Given the description of an element on the screen output the (x, y) to click on. 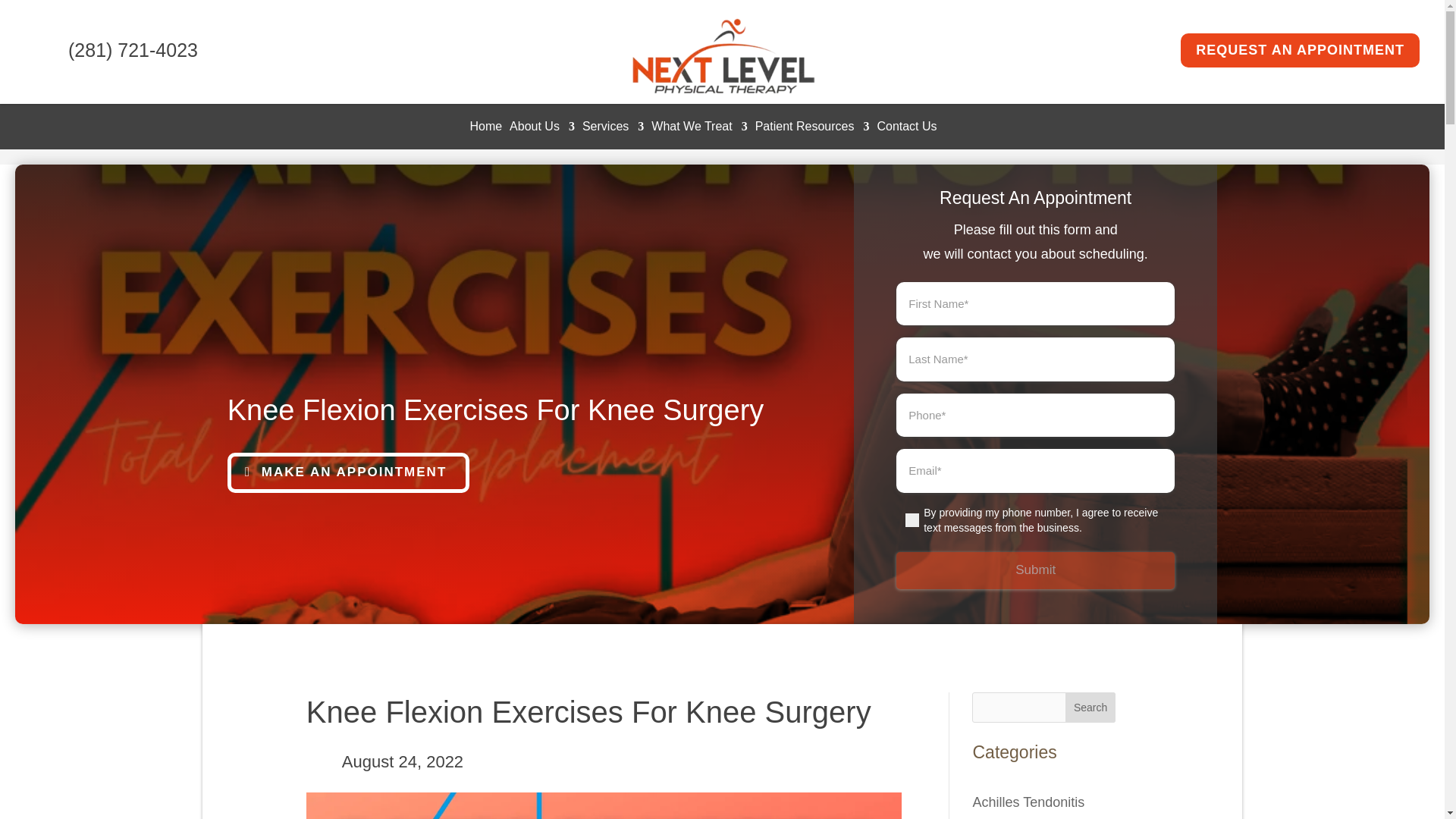
Home (485, 129)
Patient Resources (812, 129)
Services (612, 129)
About Us (542, 129)
Contact Us (906, 129)
What We Treat (698, 129)
15388 Rehab CEOs Logo -01 (722, 56)
REQUEST AN APPOINTMENT (1299, 50)
Submit (1035, 570)
